Given the description of an element on the screen output the (x, y) to click on. 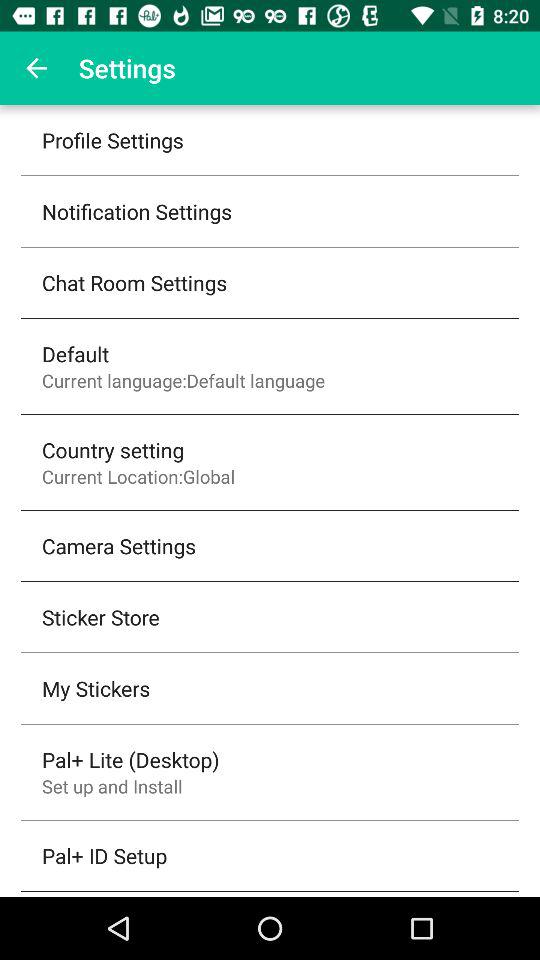
press the camera settings item (119, 545)
